Given the description of an element on the screen output the (x, y) to click on. 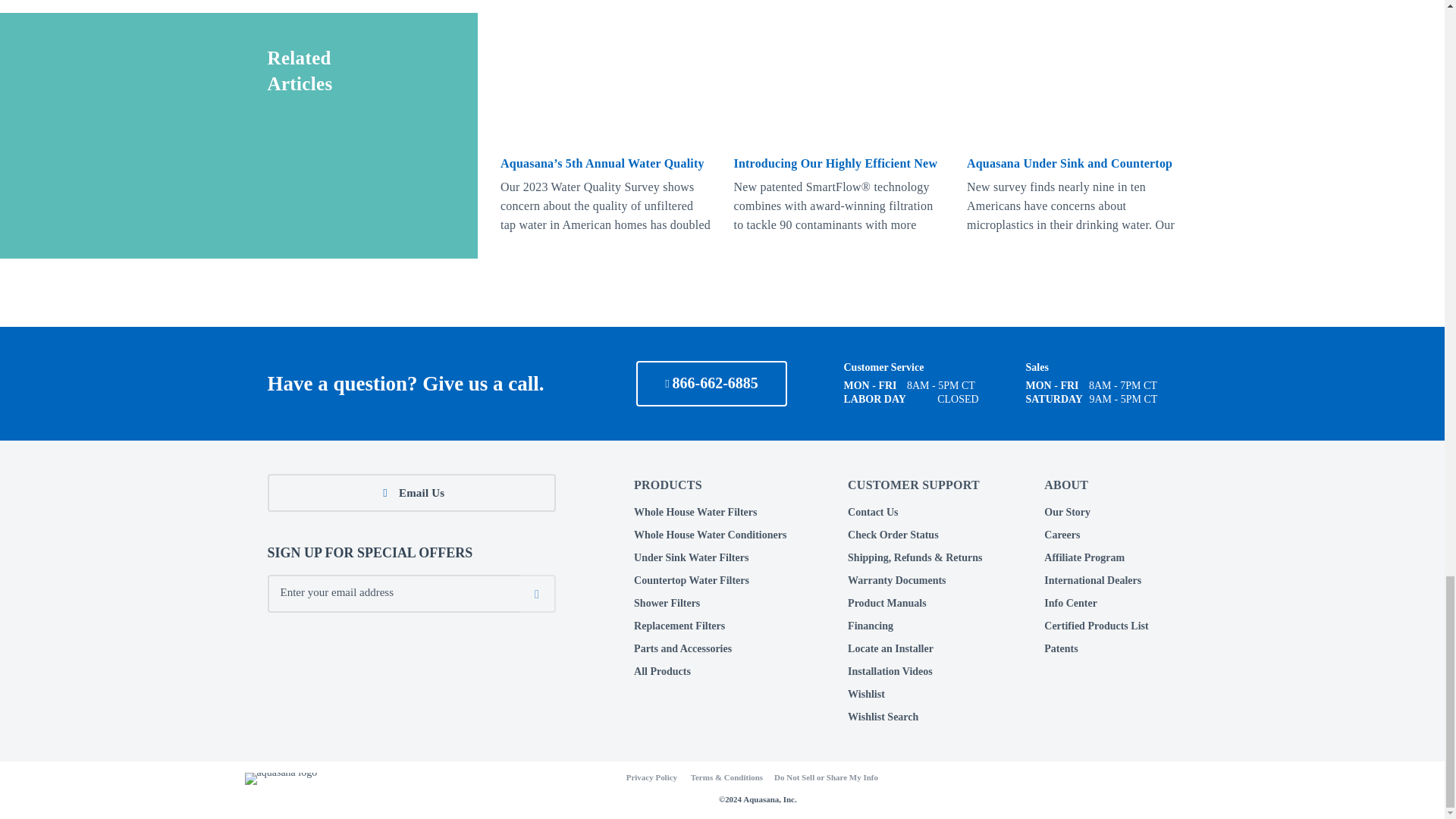
Go to Order Status (893, 534)
Go to Countertop Water Filters (691, 580)
Go to Contact Us (872, 511)
Go to Whole House Water Conditioners (709, 534)
Go to Shower Filters (666, 603)
Go to All Products (661, 671)
Go to Replacement Filters (679, 625)
Go to Parts and Accessories (682, 648)
Go to Whole House Water Filters (695, 511)
Go to Under Sink Water Filters (690, 557)
